Given the description of an element on the screen output the (x, y) to click on. 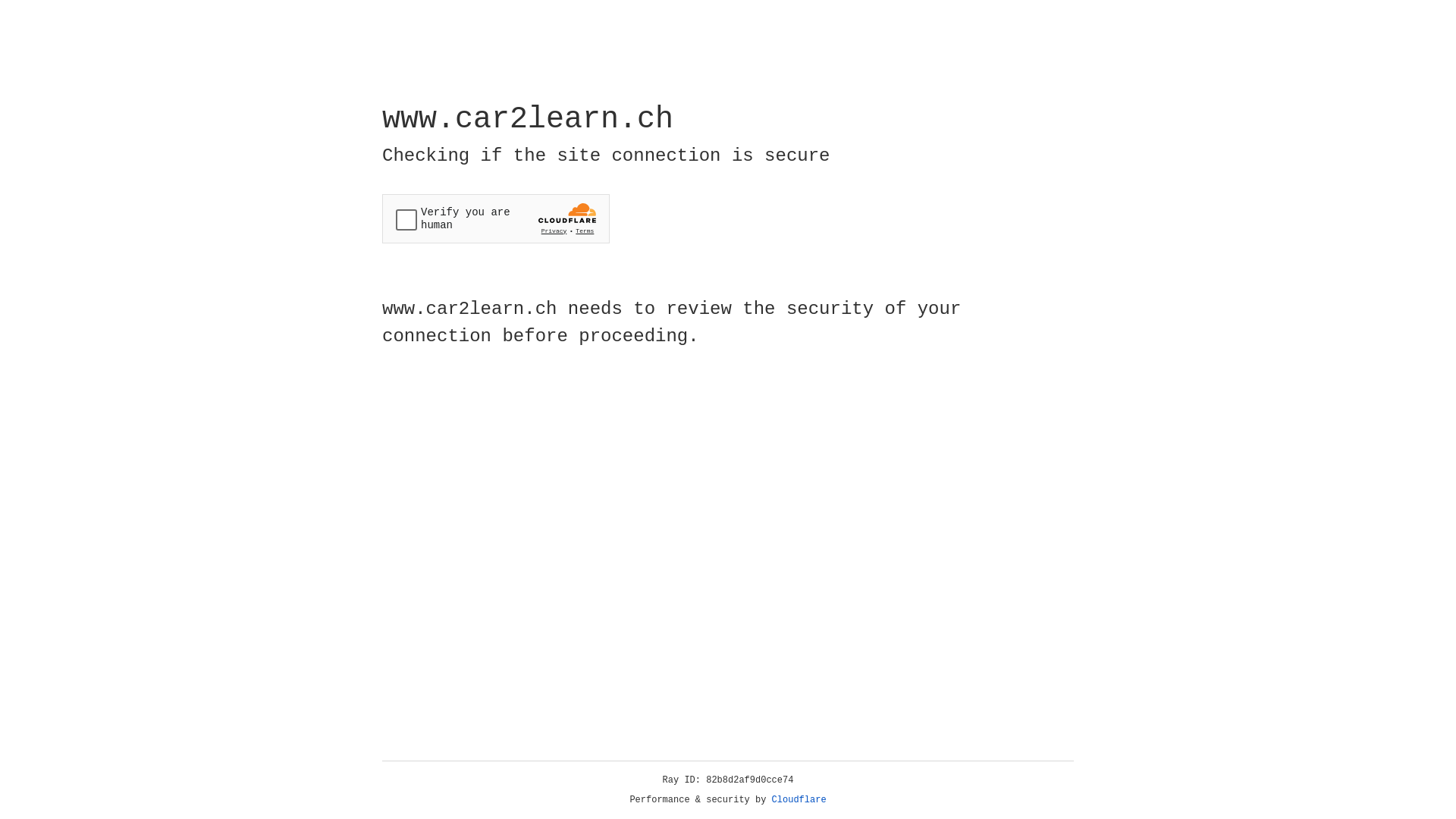
Cloudflare Element type: text (798, 799)
Widget containing a Cloudflare security challenge Element type: hover (495, 218)
